Given the description of an element on the screen output the (x, y) to click on. 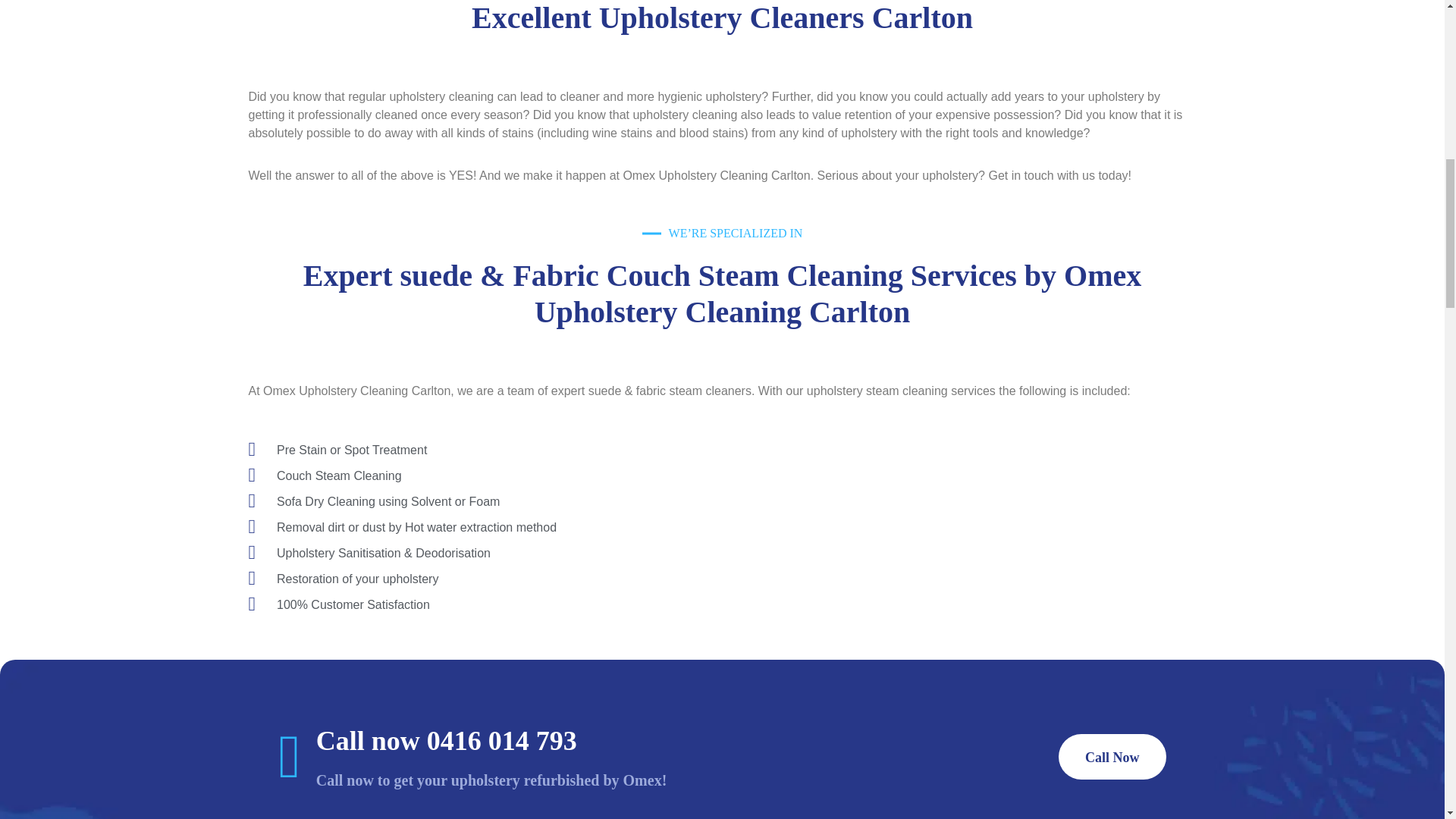
Call Now (1112, 756)
